Given the description of an element on the screen output the (x, y) to click on. 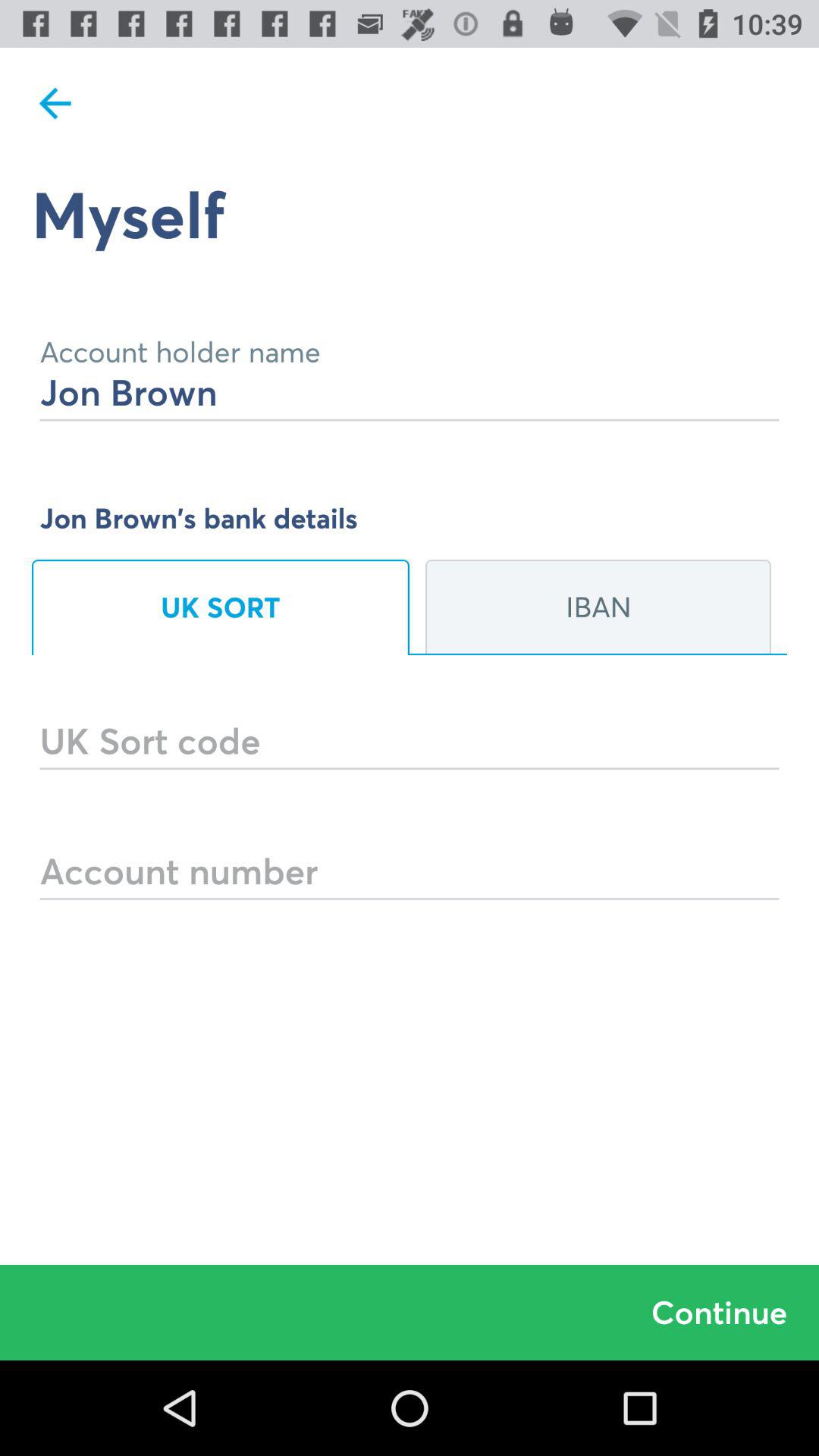
turn off the icon below jon brown s icon (598, 607)
